Given the description of an element on the screen output the (x, y) to click on. 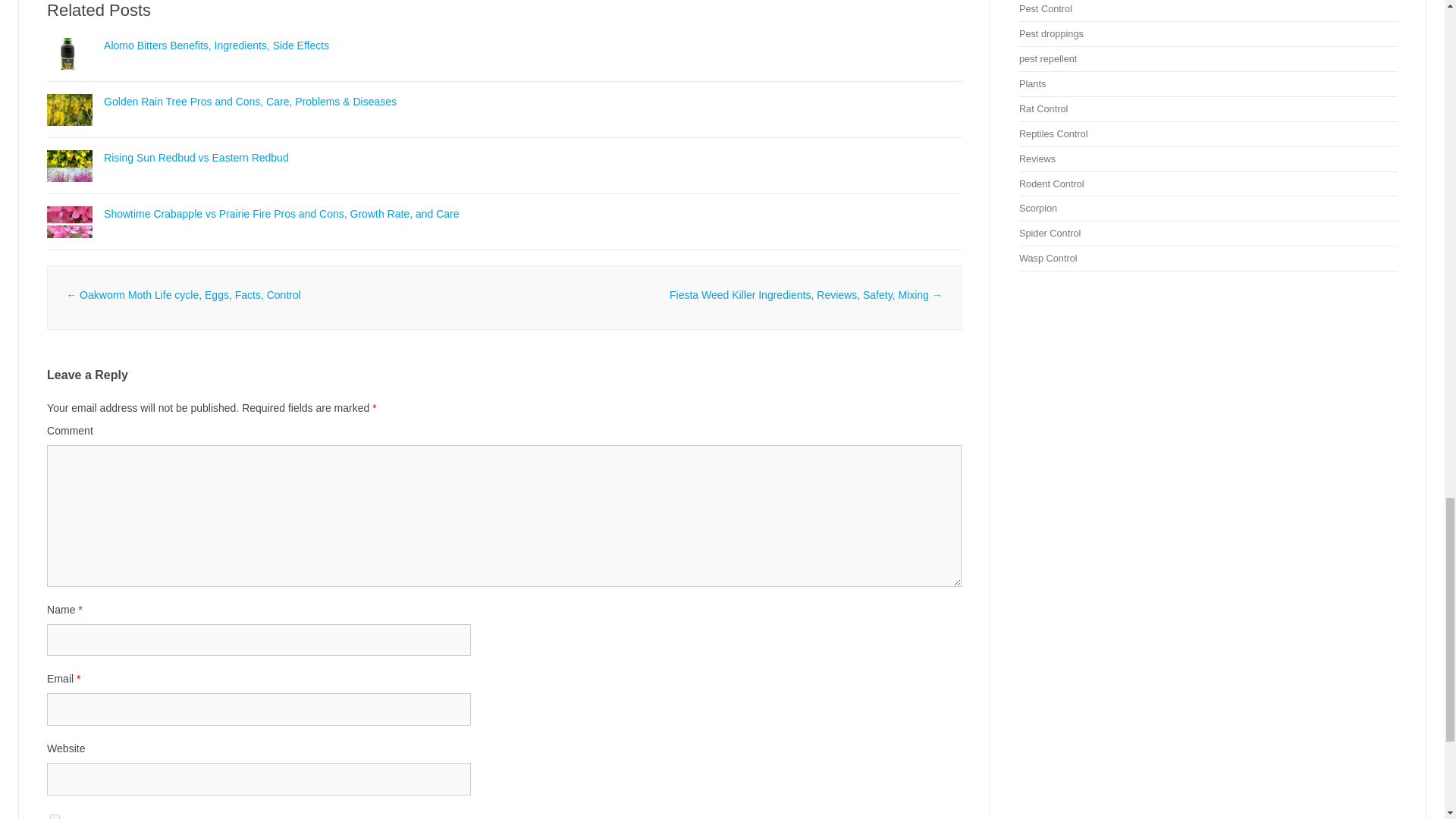
Alomo Bitters Benefits, Ingredients, Side Effects (216, 45)
Alomo Bitters Benefits, Ingredients, Side Effects (69, 76)
yes (54, 816)
Rising Sun Redbud vs Eastern Redbud (195, 157)
Rising Sun Redbud vs Eastern Redbud (69, 188)
Alomo Bitters Benefits, Ingredients, Side Effects (216, 45)
